Given the description of an element on the screen output the (x, y) to click on. 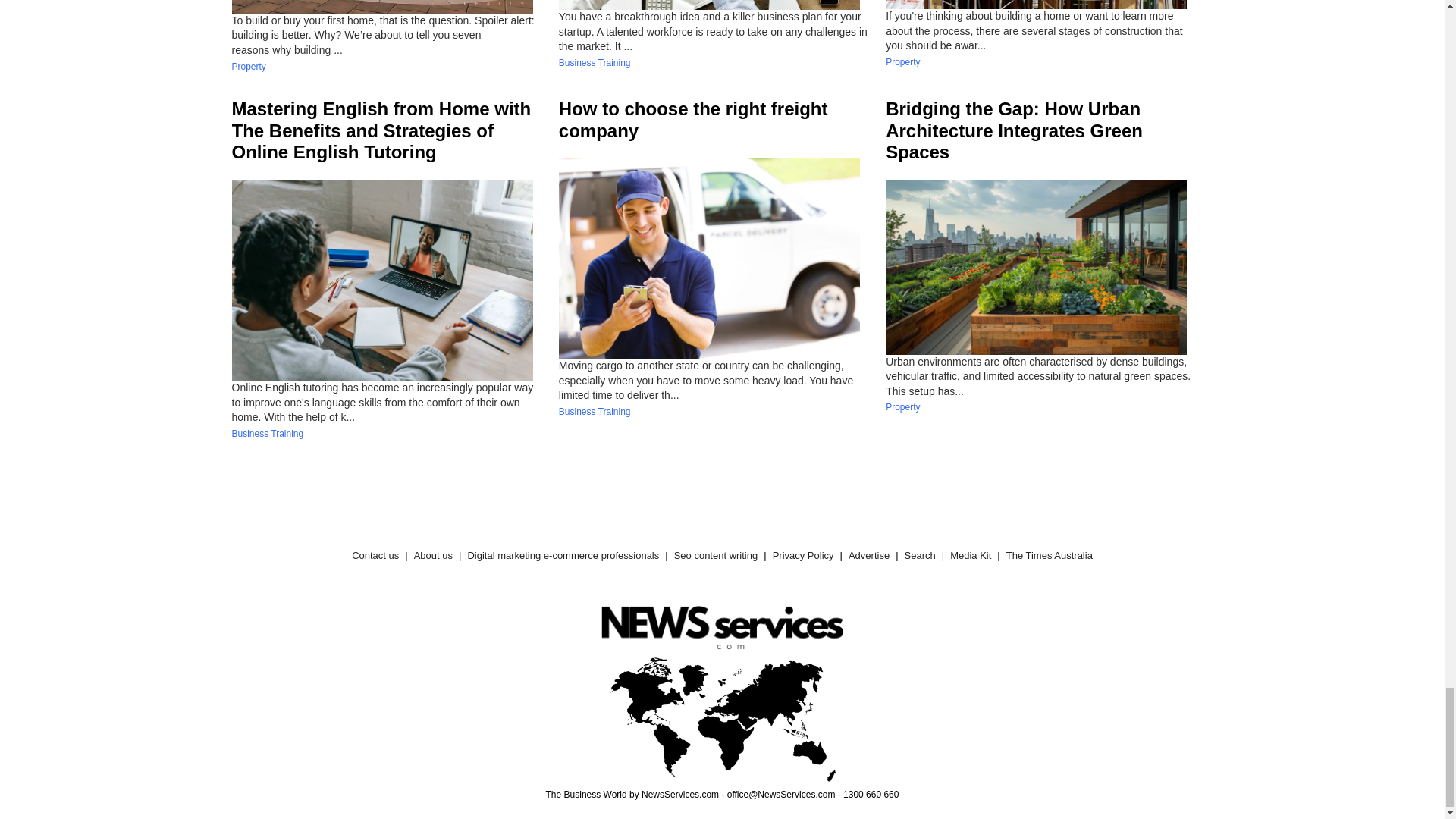
How to choose the right freight company (693, 119)
